Given the description of an element on the screen output the (x, y) to click on. 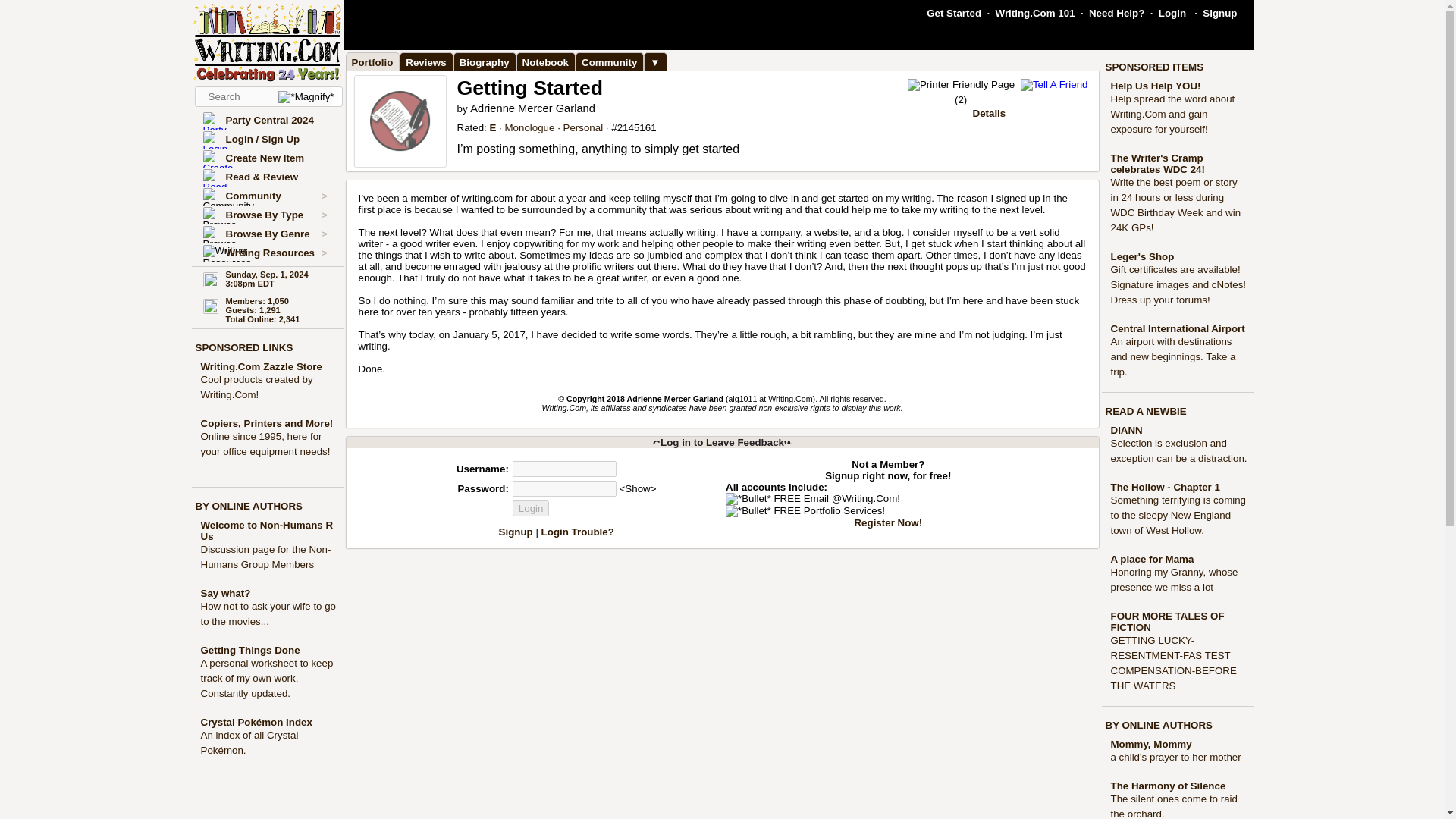
Writing.Com 101 (1035, 12)
Get Started (953, 12)
Magnify (305, 96)
Login (1172, 12)
Need Help? (1116, 12)
Create New Item (264, 157)
Signup (1219, 12)
Party Central 2024 (269, 120)
Login (531, 508)
